Given the description of an element on the screen output the (x, y) to click on. 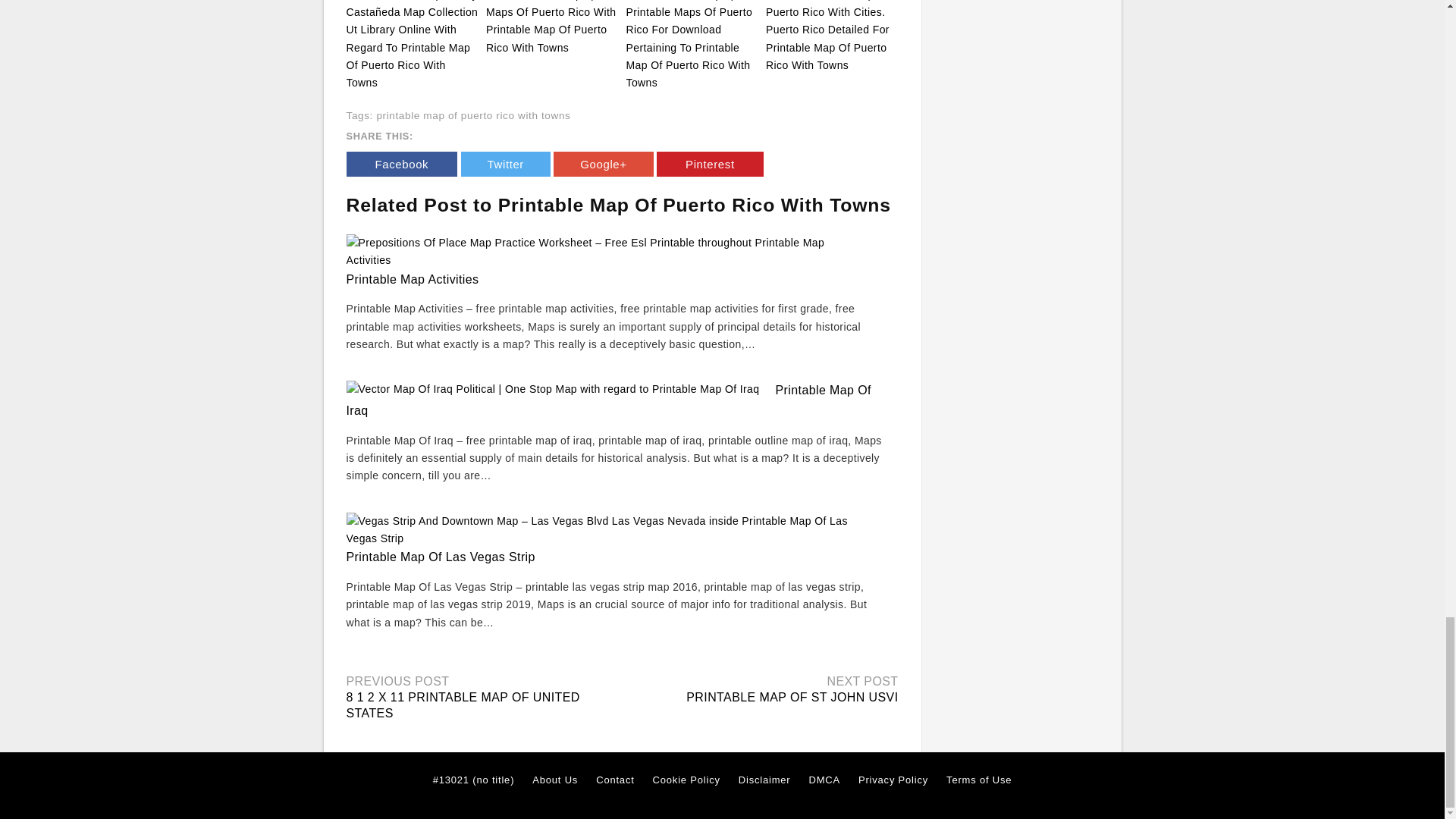
8 1 2 X 11 PRINTABLE MAP OF UNITED STATES (462, 705)
printable map of puerto rico with towns (472, 115)
Pinterest (709, 163)
Facebook (401, 163)
Printable Map Activities (412, 278)
Printable Map Of Iraq (608, 400)
Twitter (505, 163)
PRINTABLE MAP OF ST JOHN USVI (791, 697)
Printable Map Of Las Vegas Strip (440, 556)
